Given the description of an element on the screen output the (x, y) to click on. 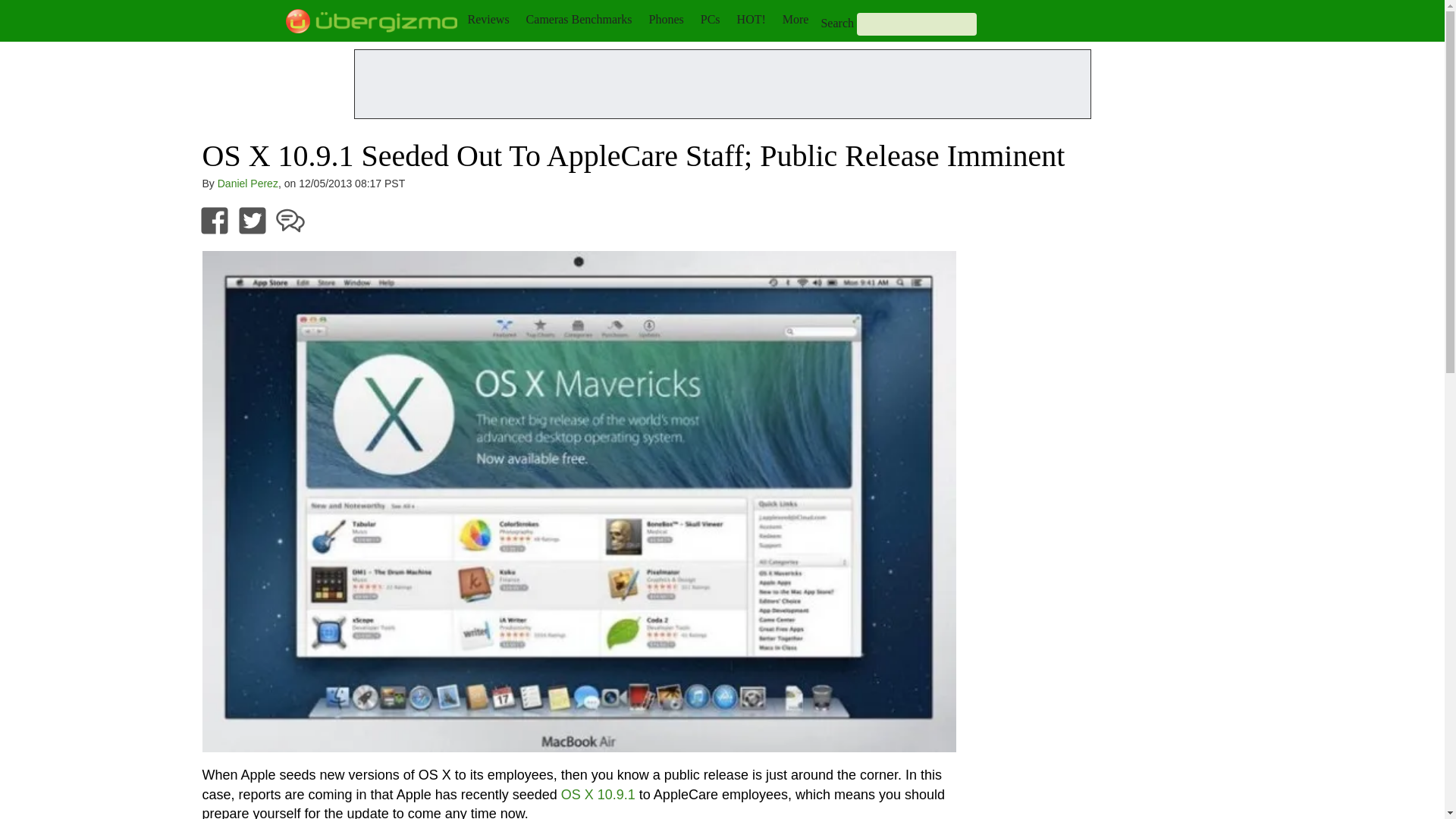
Phones (666, 19)
PCs (710, 19)
Cameras Benchmarks (578, 19)
Reviews (487, 19)
